Given the description of an element on the screen output the (x, y) to click on. 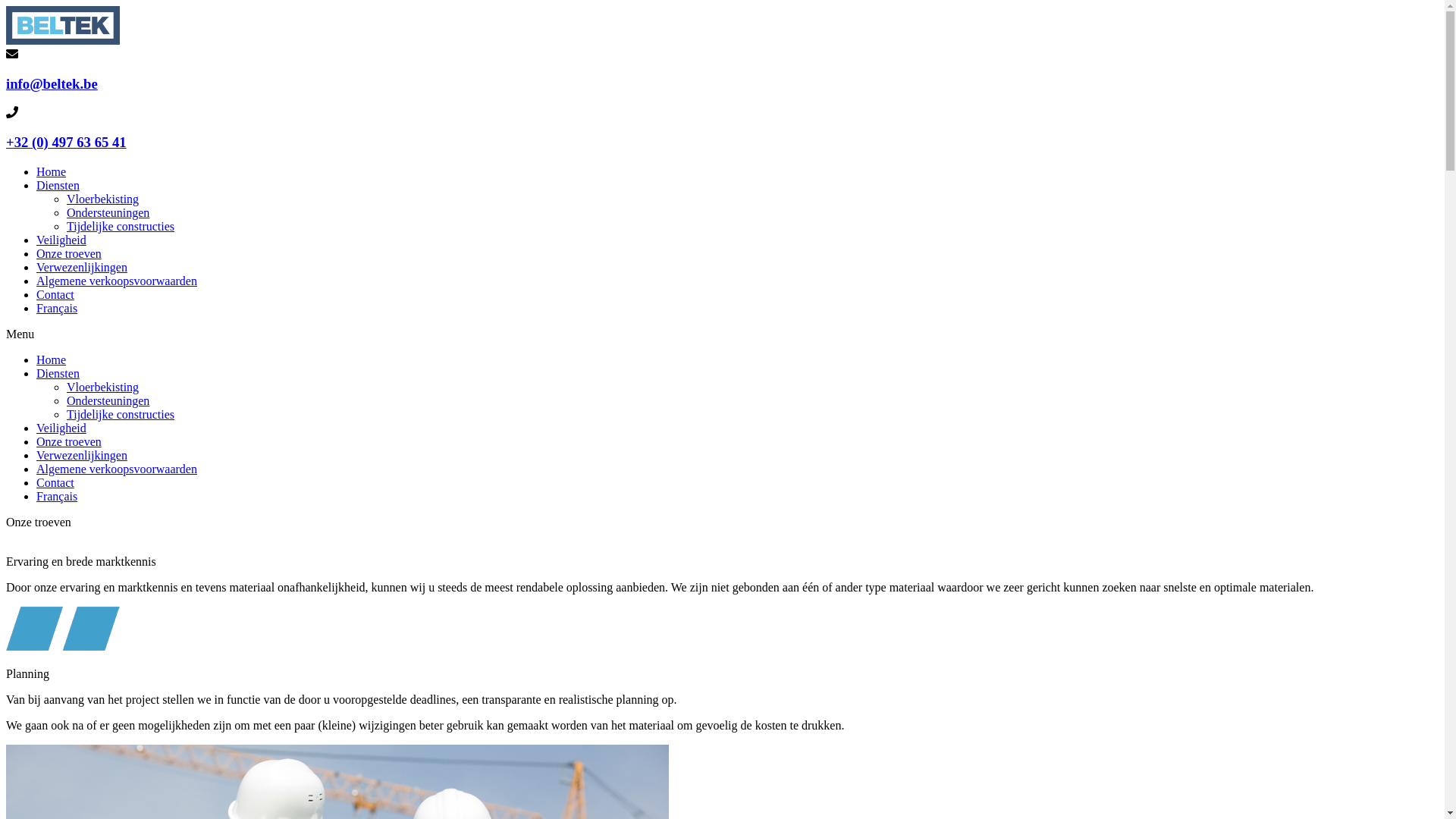
Veiligheid Element type: text (61, 427)
Vloerbekisting Element type: text (102, 198)
info@beltek.be Element type: text (51, 83)
Ondersteuningen Element type: text (107, 212)
+32 (0) 497 63 65 41 Element type: text (66, 142)
Diensten Element type: text (57, 373)
Algemene verkoopsvoorwaarden Element type: text (116, 468)
Home Element type: text (50, 171)
Contact Element type: text (55, 482)
Veiligheid Element type: text (61, 239)
Verwezenlijkingen Element type: text (81, 454)
Home Element type: text (50, 359)
Algemene verkoopsvoorwaarden Element type: text (116, 280)
Tijdelijke constructies Element type: text (120, 413)
Onze troeven Element type: text (68, 441)
Contact Element type: text (55, 294)
Ga naar inhoud Element type: text (5, 5)
Vloerbekisting Element type: text (102, 386)
Diensten Element type: text (57, 184)
Ondersteuningen Element type: text (107, 400)
Verwezenlijkingen Element type: text (81, 266)
Onze troeven Element type: text (68, 253)
Tijdelijke constructies Element type: text (120, 225)
